Given the description of an element on the screen output the (x, y) to click on. 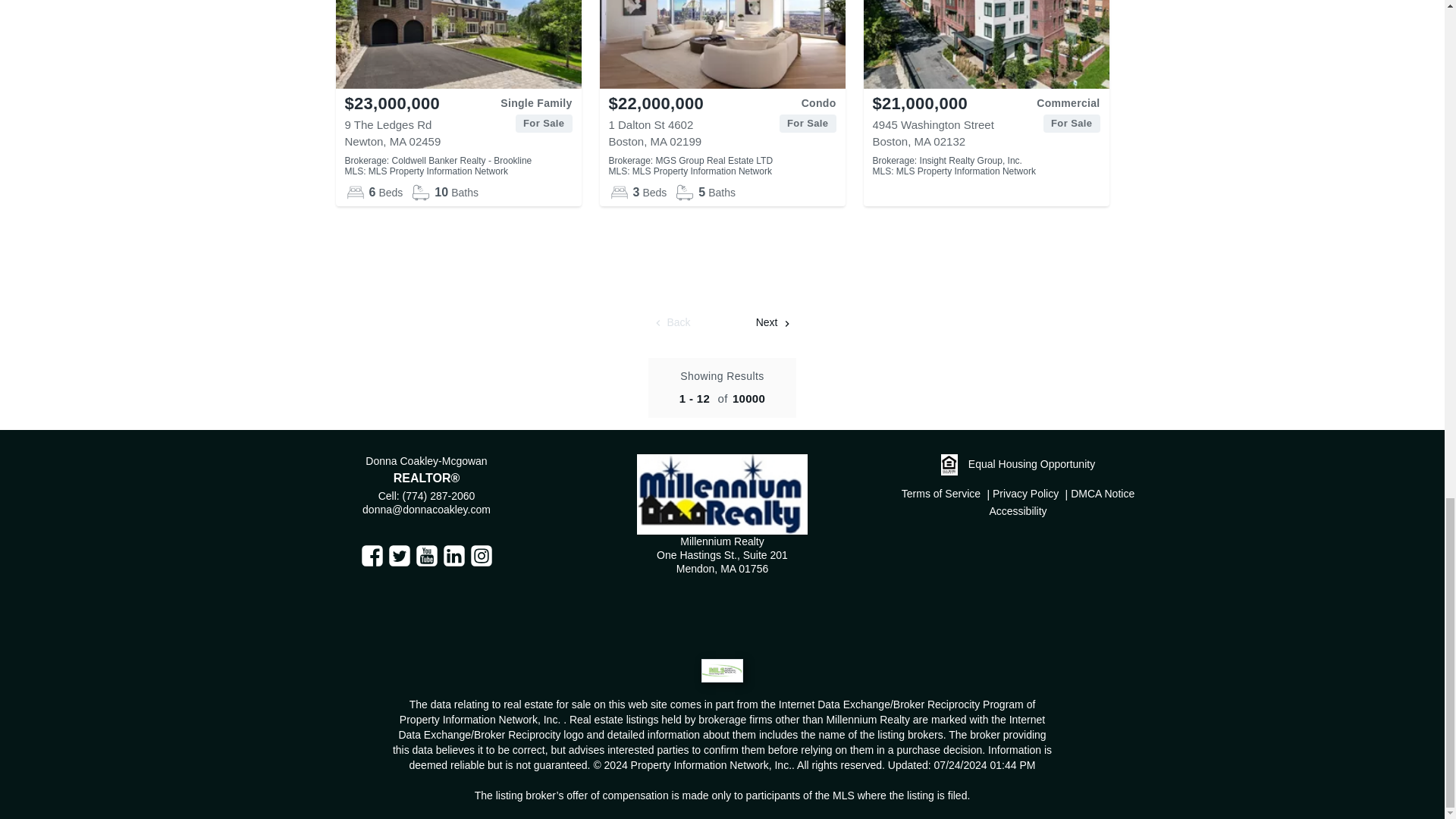
Millennium Realty (722, 494)
Next page (774, 322)
